Given the description of an element on the screen output the (x, y) to click on. 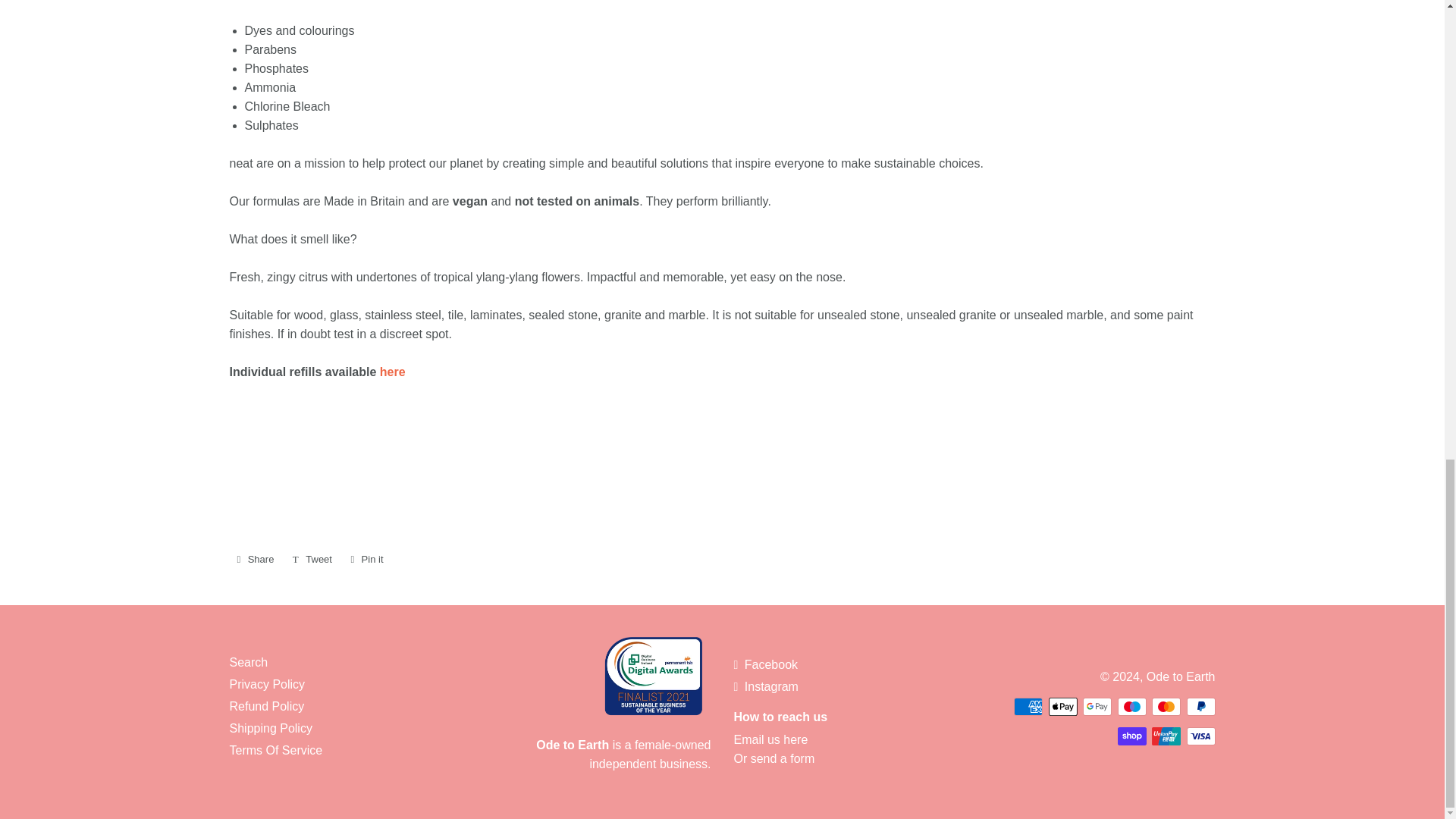
Apple Pay (1062, 706)
Shop Pay (1132, 736)
Mastercard (1165, 706)
Ode to Earth on Instagram (765, 686)
Pin on Pinterest (366, 558)
American Express (1027, 706)
Union Pay (1165, 736)
Ode to Earth on Facebook (765, 664)
Visa (1200, 736)
Maestro (1132, 706)
Share on Facebook (254, 558)
PayPal (1200, 706)
Tweet on Twitter (312, 558)
Google Pay (1097, 706)
